Given the description of an element on the screen output the (x, y) to click on. 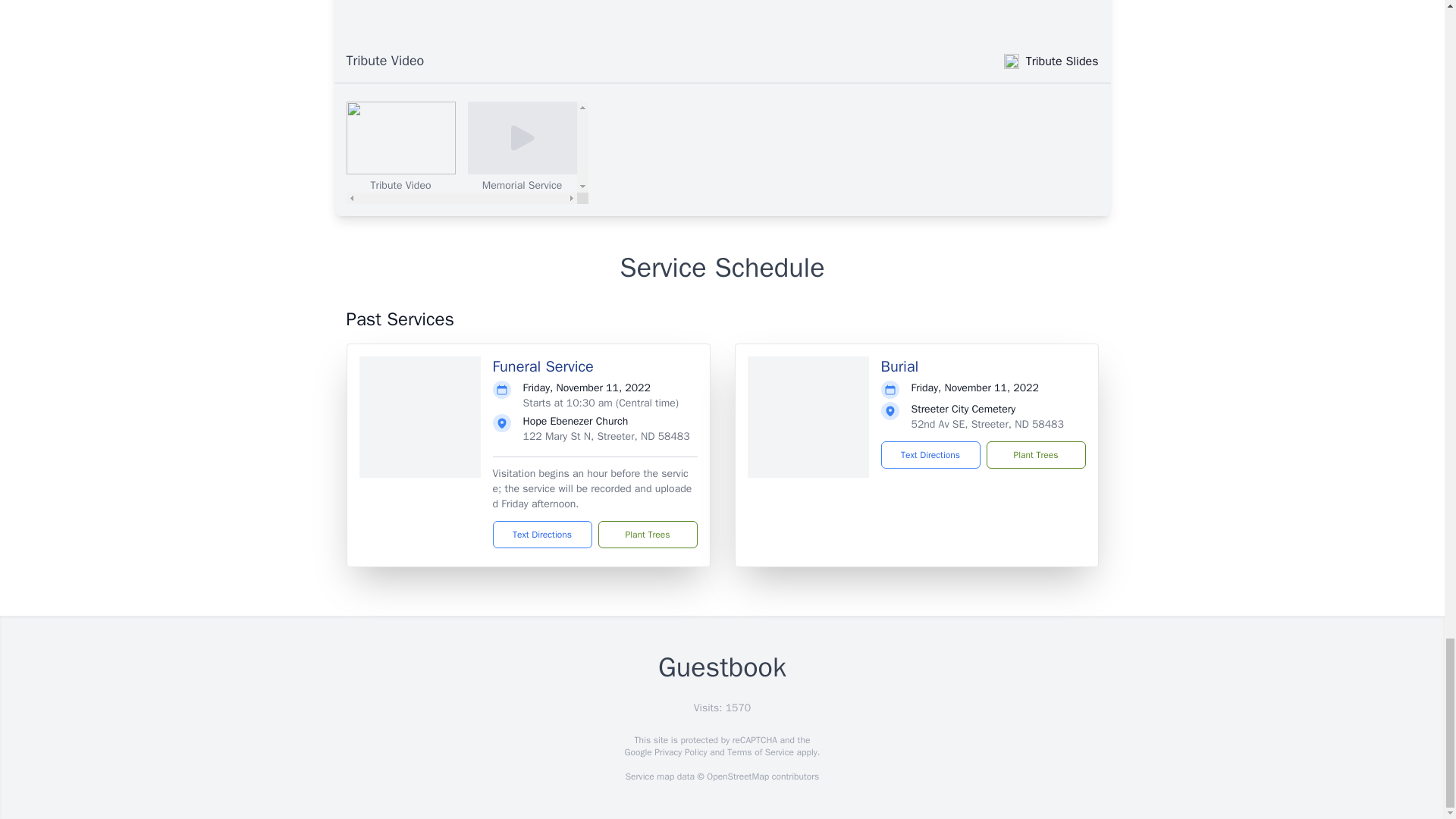
Privacy Policy (679, 752)
Plant Trees (1034, 454)
Text Directions (542, 533)
OpenStreetMap (737, 776)
Plant Trees (646, 533)
Memorial Service (521, 146)
52nd Av SE, Streeter, ND 58483 (987, 422)
Text Directions (929, 454)
Tribute Video (467, 152)
